Given the description of an element on the screen output the (x, y) to click on. 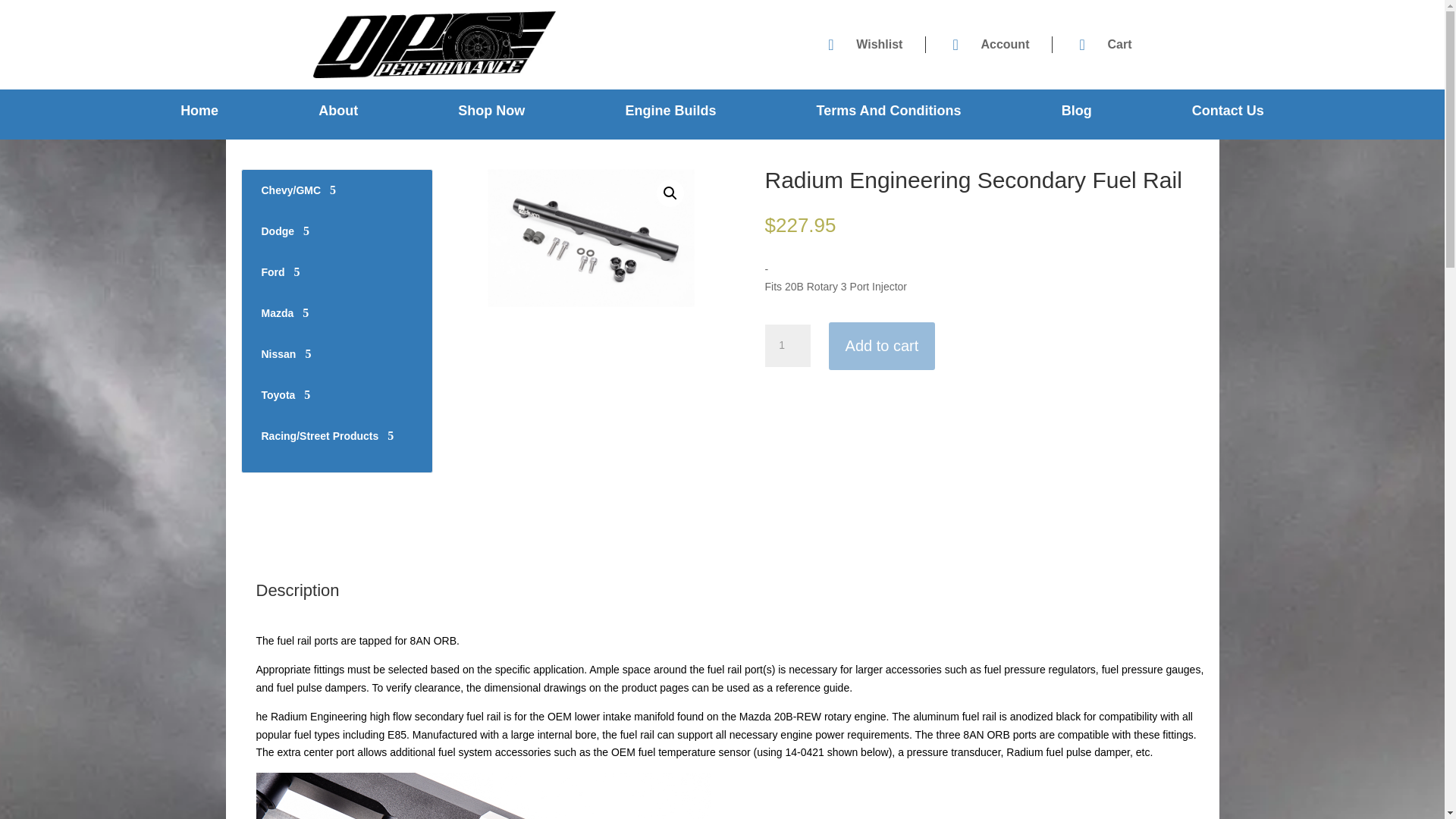
11-20-2013 DJP Performance logo (433, 44)
Engine Builds (670, 118)
rad20-0465n (590, 237)
Terms And Conditions (888, 118)
Home (199, 118)
Blog (1076, 118)
About (338, 118)
Contact Us (1227, 118)
1 (786, 345)
Shop Now (491, 118)
